Given the description of an element on the screen output the (x, y) to click on. 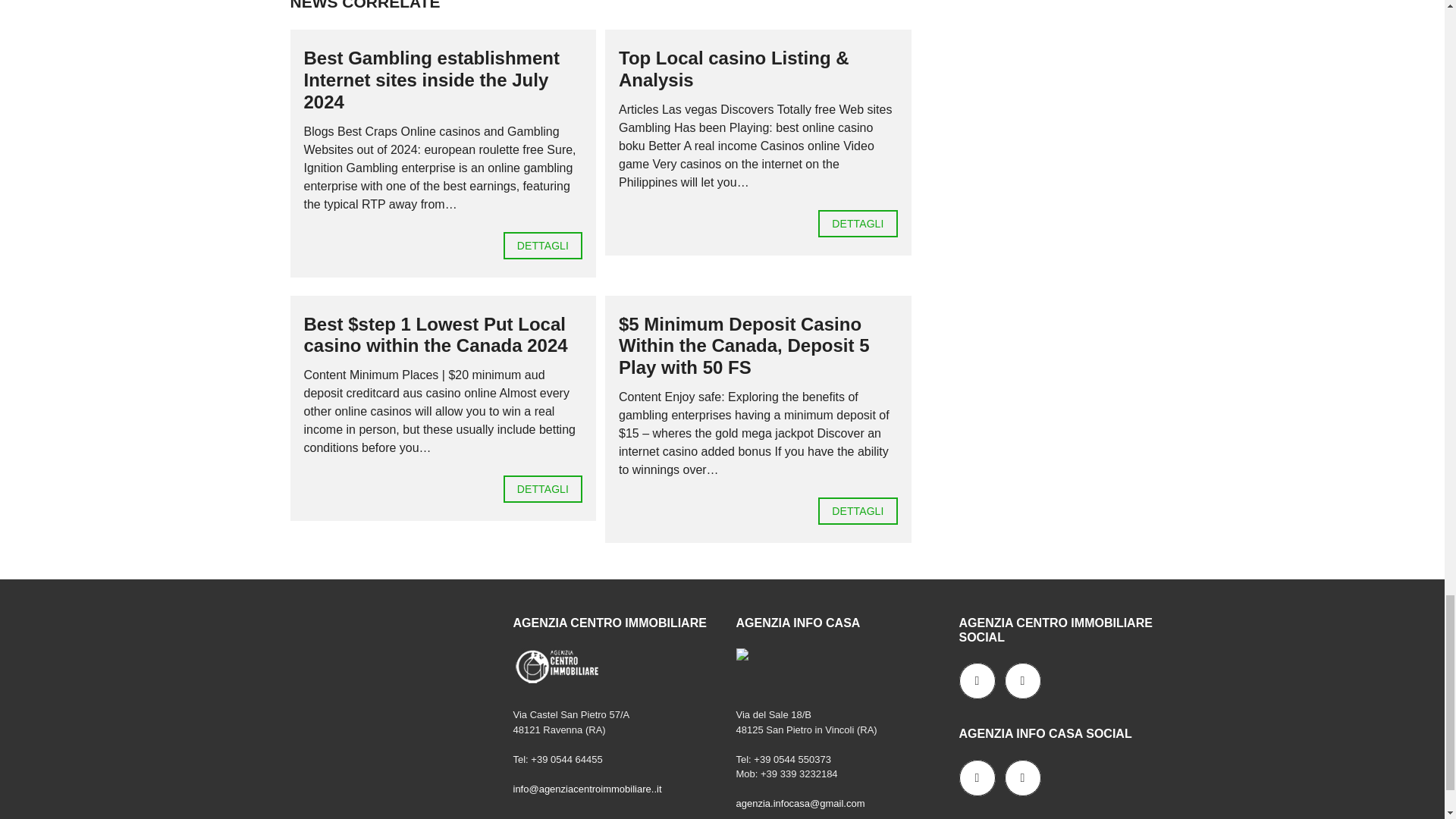
DETTAGLI (542, 488)
DETTAGLI (542, 245)
DETTAGLI (857, 223)
DETTAGLI (857, 510)
